Given the description of an element on the screen output the (x, y) to click on. 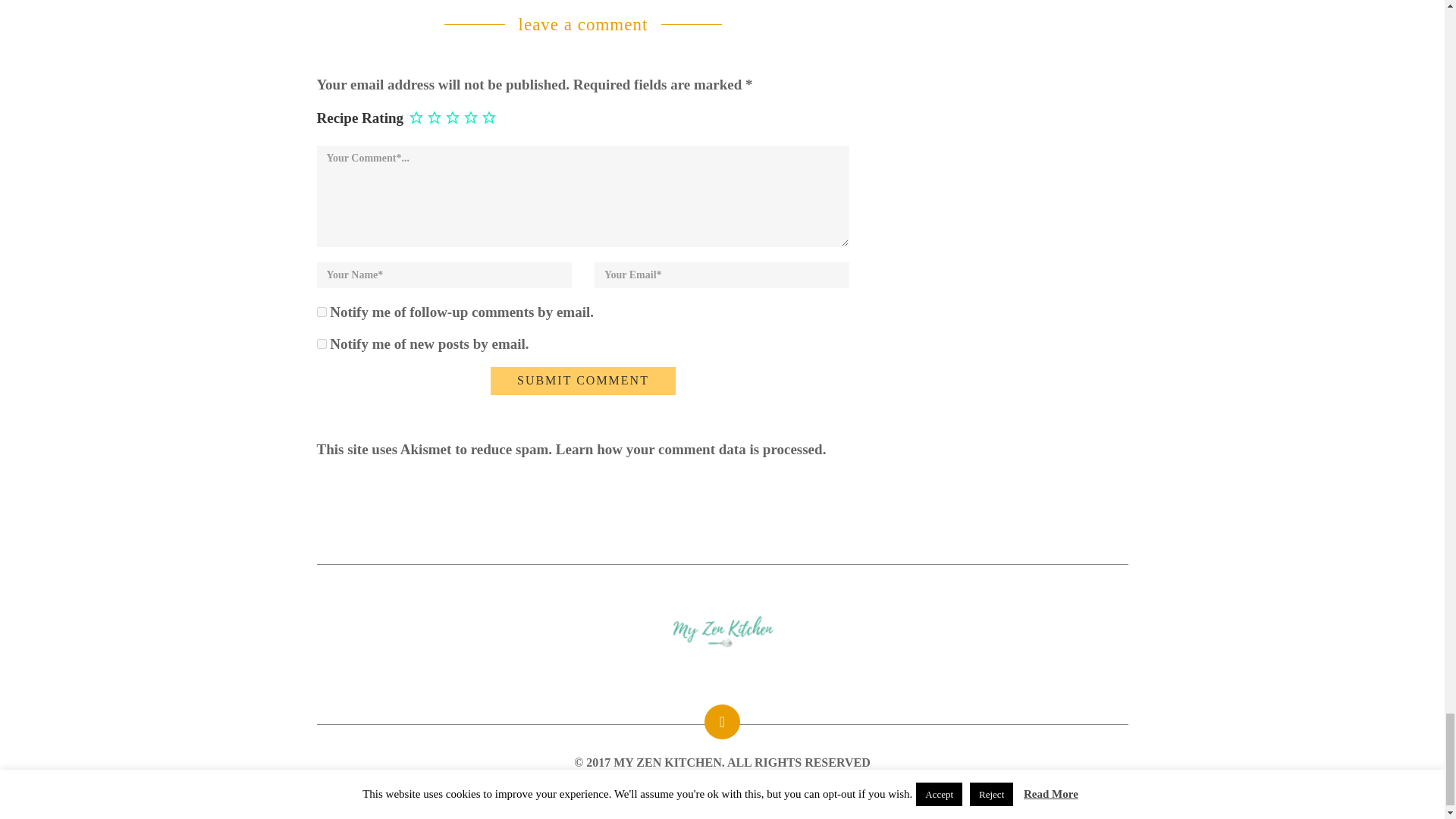
Learn how your comment data is processed (689, 449)
subscribe (321, 311)
subscribe (321, 343)
Submit Comment (582, 380)
Submit Comment (582, 380)
